Given the description of an element on the screen output the (x, y) to click on. 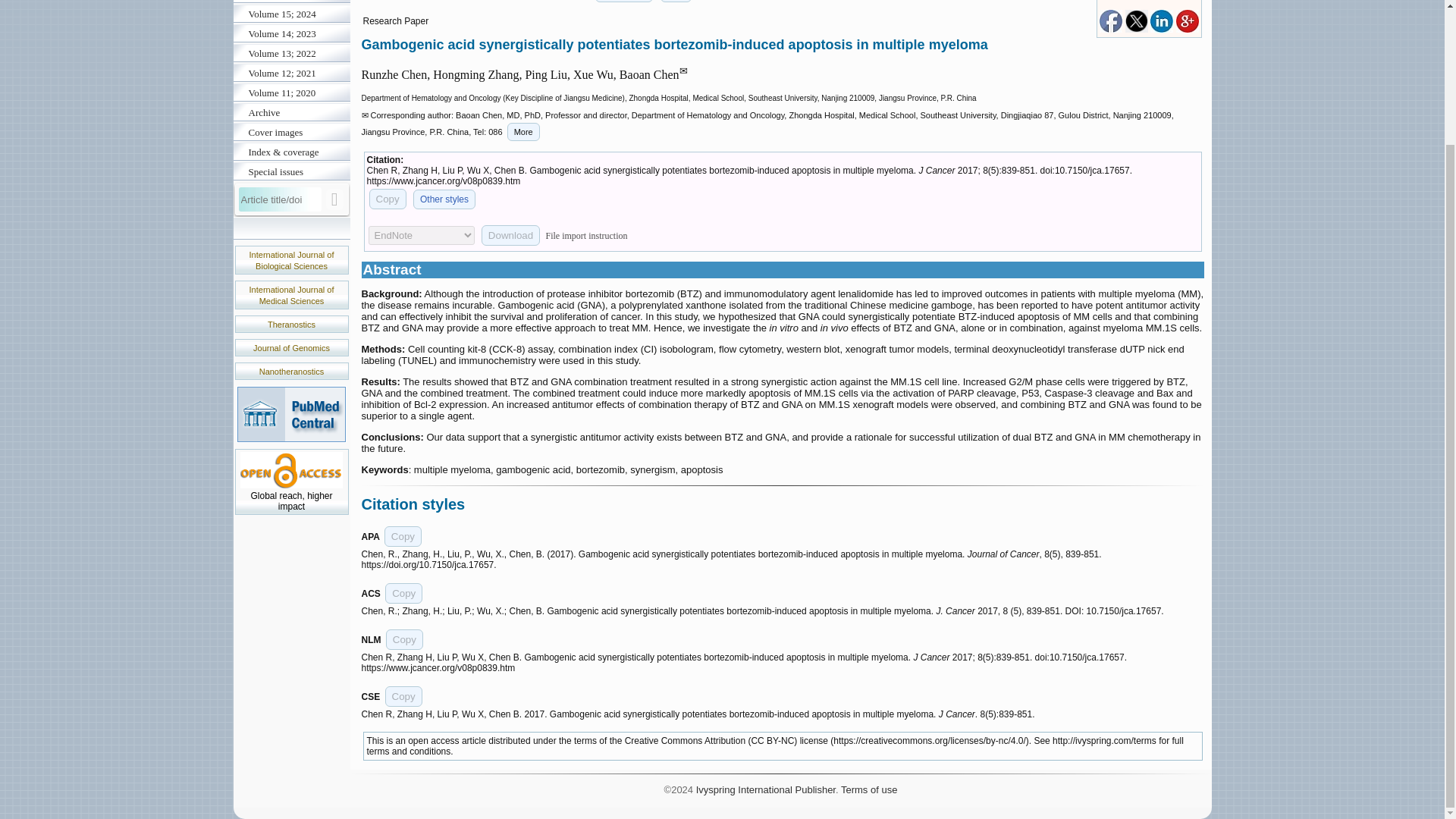
Copy (387, 199)
International Journal of Medical Sciences (291, 295)
Copy to clipboard (403, 593)
Nanotheranostics (291, 370)
This issue (624, 1)
Special issues (291, 171)
Copy (403, 536)
Cite (676, 1)
Theranostics (291, 324)
Copy (404, 639)
Volume 12; 2021 (291, 73)
Copy to clipboard (404, 639)
Download (510, 235)
Copy to clipboard (403, 696)
Share on googleplus (1186, 29)
